Given the description of an element on the screen output the (x, y) to click on. 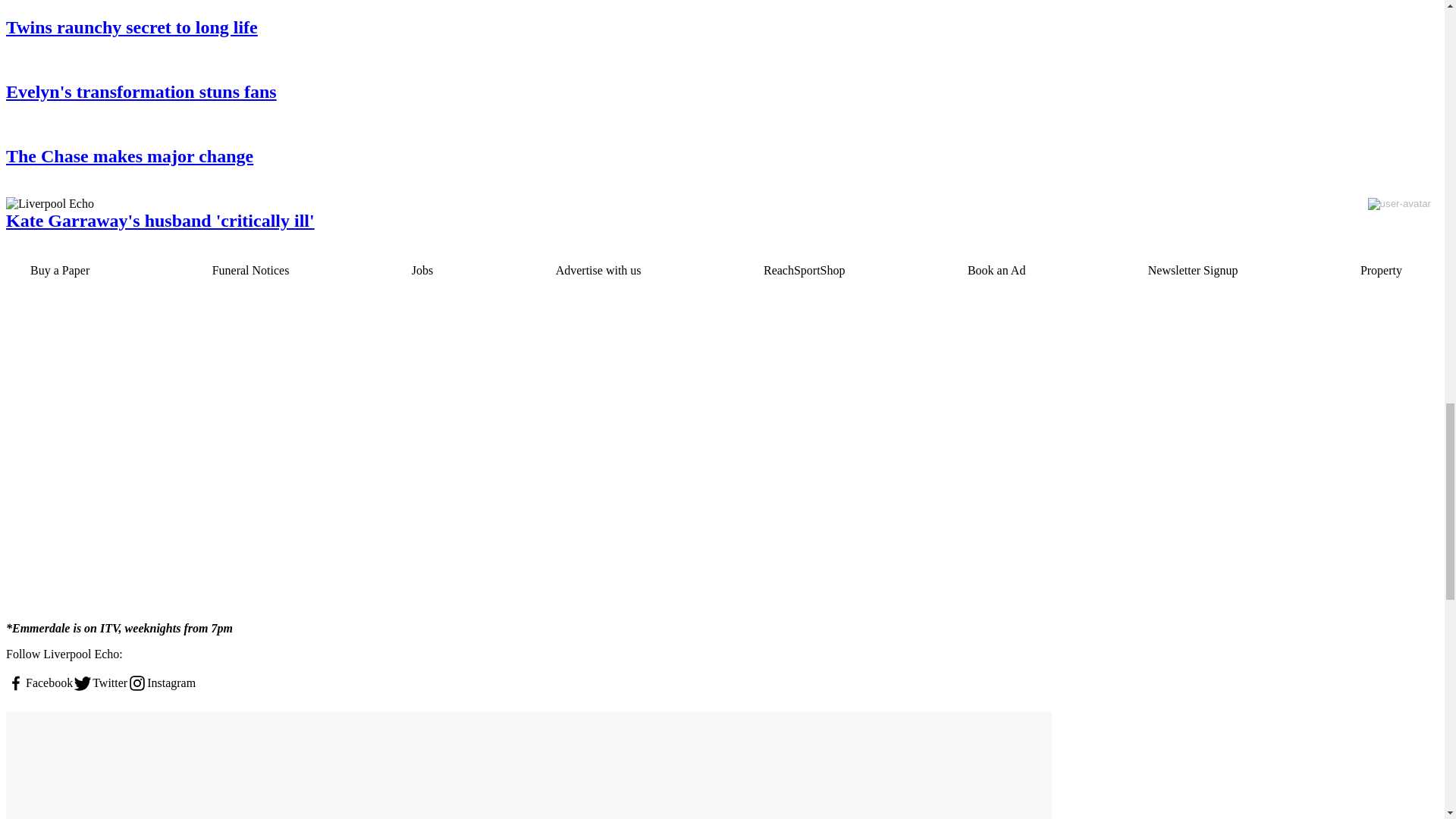
Facebook (38, 682)
The Chase makes major change (528, 156)
Instagram (161, 682)
Twins raunchy secret to long life (528, 27)
Kate Garraway's husband 'critically ill' (528, 220)
Evelyn's transformation stuns fans (528, 91)
Twitter (100, 682)
